Given the description of an element on the screen output the (x, y) to click on. 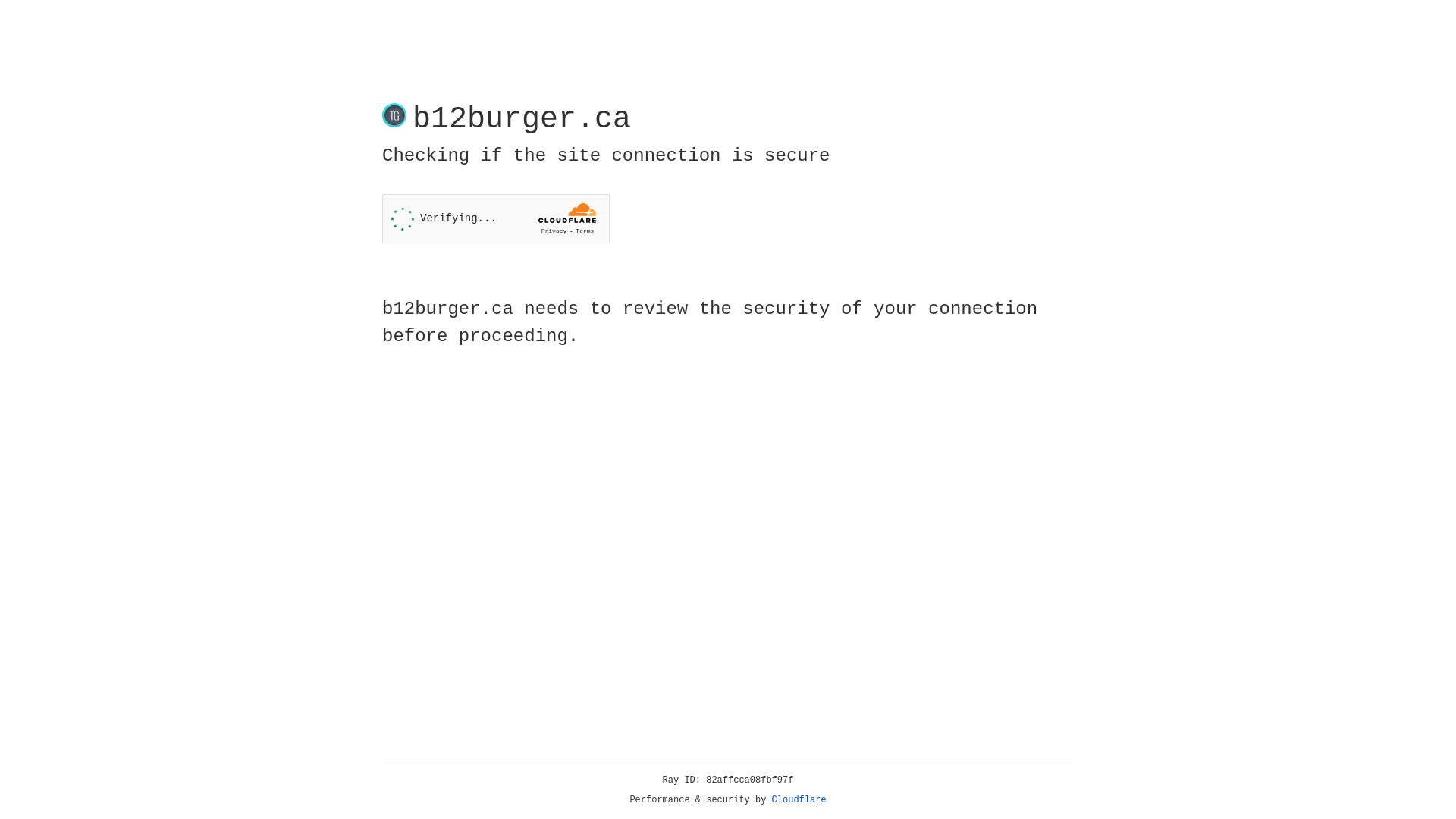
Cloudflare Element type: text (798, 799)
Widget containing a Cloudflare security challenge Element type: hover (495, 218)
